Given the description of an element on the screen output the (x, y) to click on. 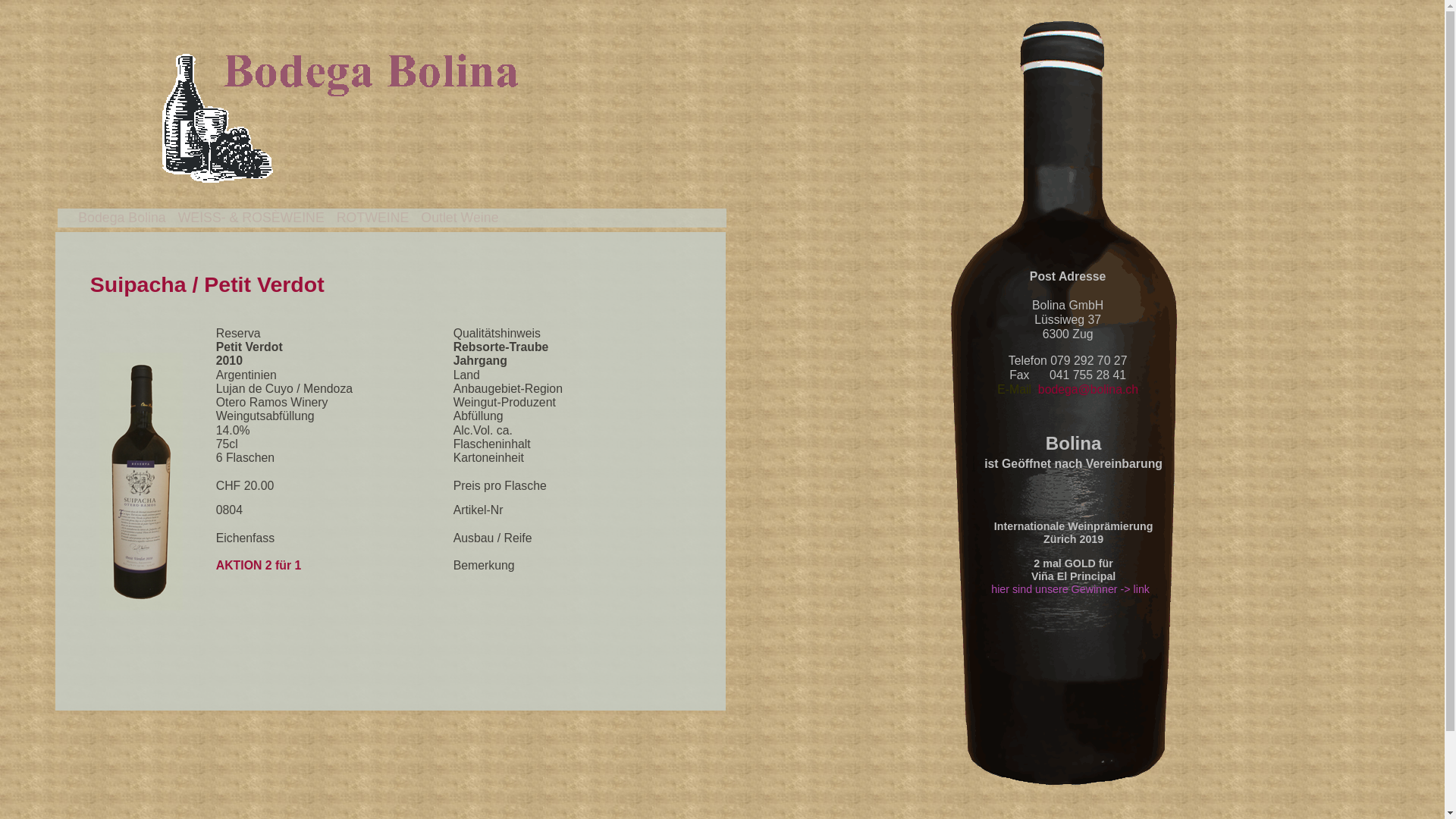
Suipacha / OTERO RAMOS Element type: hover (140, 481)
E-Mail   Element type: text (1017, 388)
ROTWEINE Element type: text (372, 217)
Outlet Weine Element type: text (459, 217)
Bodega Bolina Element type: text (121, 217)
hier sind unsere Gewinner -> link  Element type: text (1071, 589)
bodega@bolina.ch Element type: text (1088, 388)
